Given the description of an element on the screen output the (x, y) to click on. 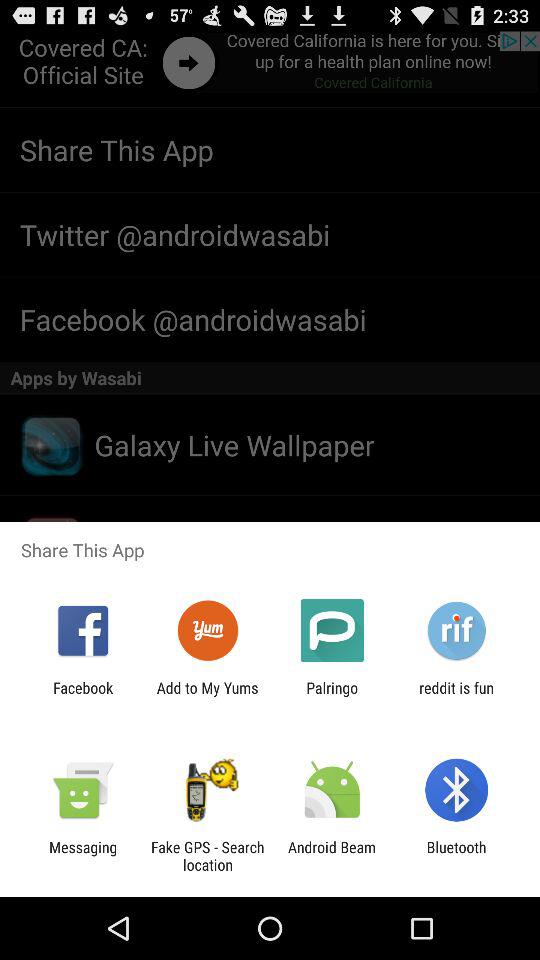
turn on the app to the right of the facebook item (207, 696)
